Given the description of an element on the screen output the (x, y) to click on. 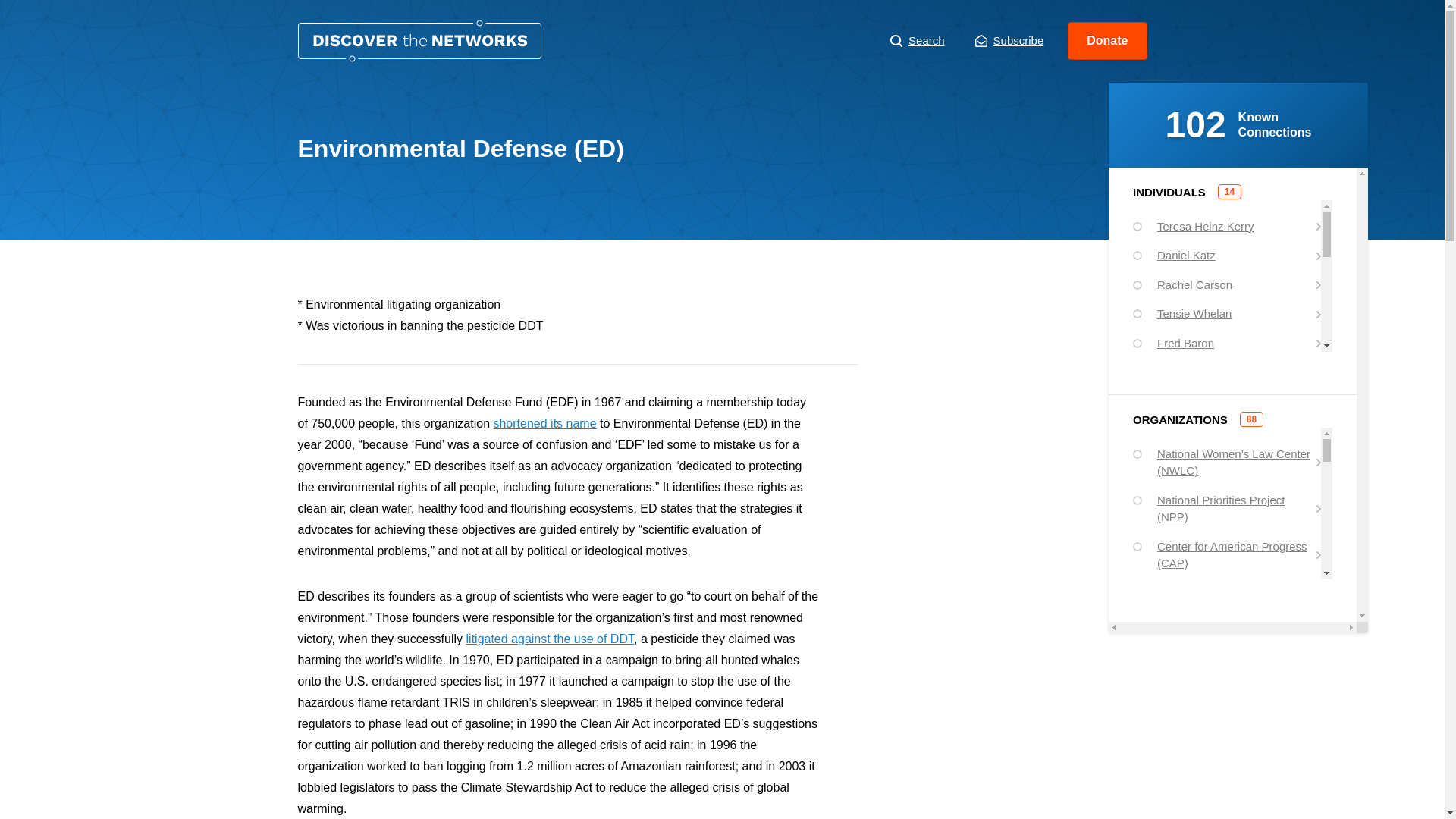
litigated against the use of DDT (549, 638)
Teresa Heinz Kerry (1226, 226)
Donate (1107, 40)
Search (916, 40)
Subscribe (1009, 40)
shortened its name (544, 422)
